Given the description of an element on the screen output the (x, y) to click on. 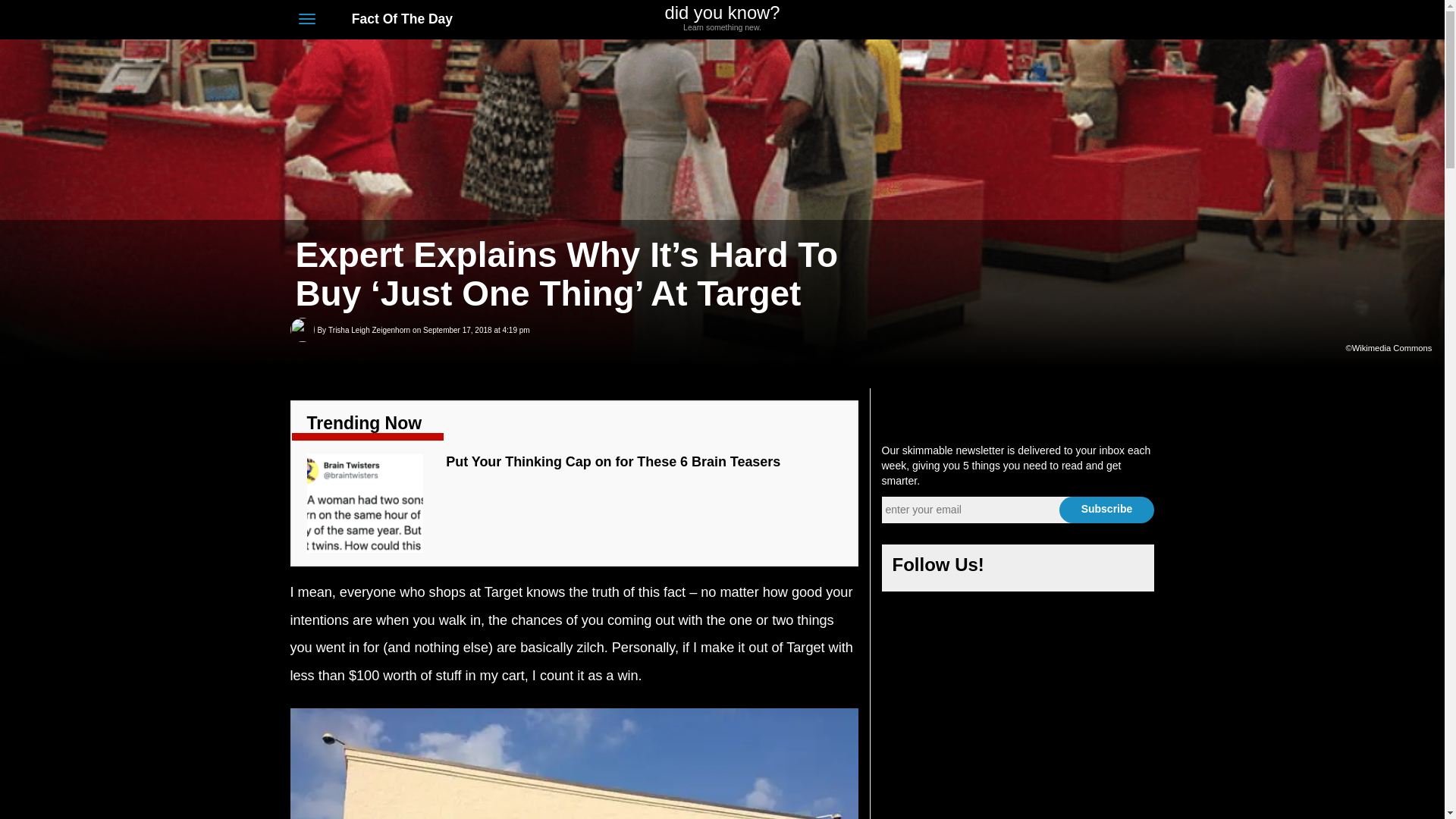
Trisha Leigh Zeigenhorn (369, 330)
Twitter (722, 18)
Toggle navigation (1054, 569)
Posts by Trisha Leigh Zeigenhorn (306, 18)
Subscribe (369, 330)
Facebook (1106, 509)
Facebook (1034, 20)
Twitter (1018, 569)
Instagram (1063, 20)
